Given the description of an element on the screen output the (x, y) to click on. 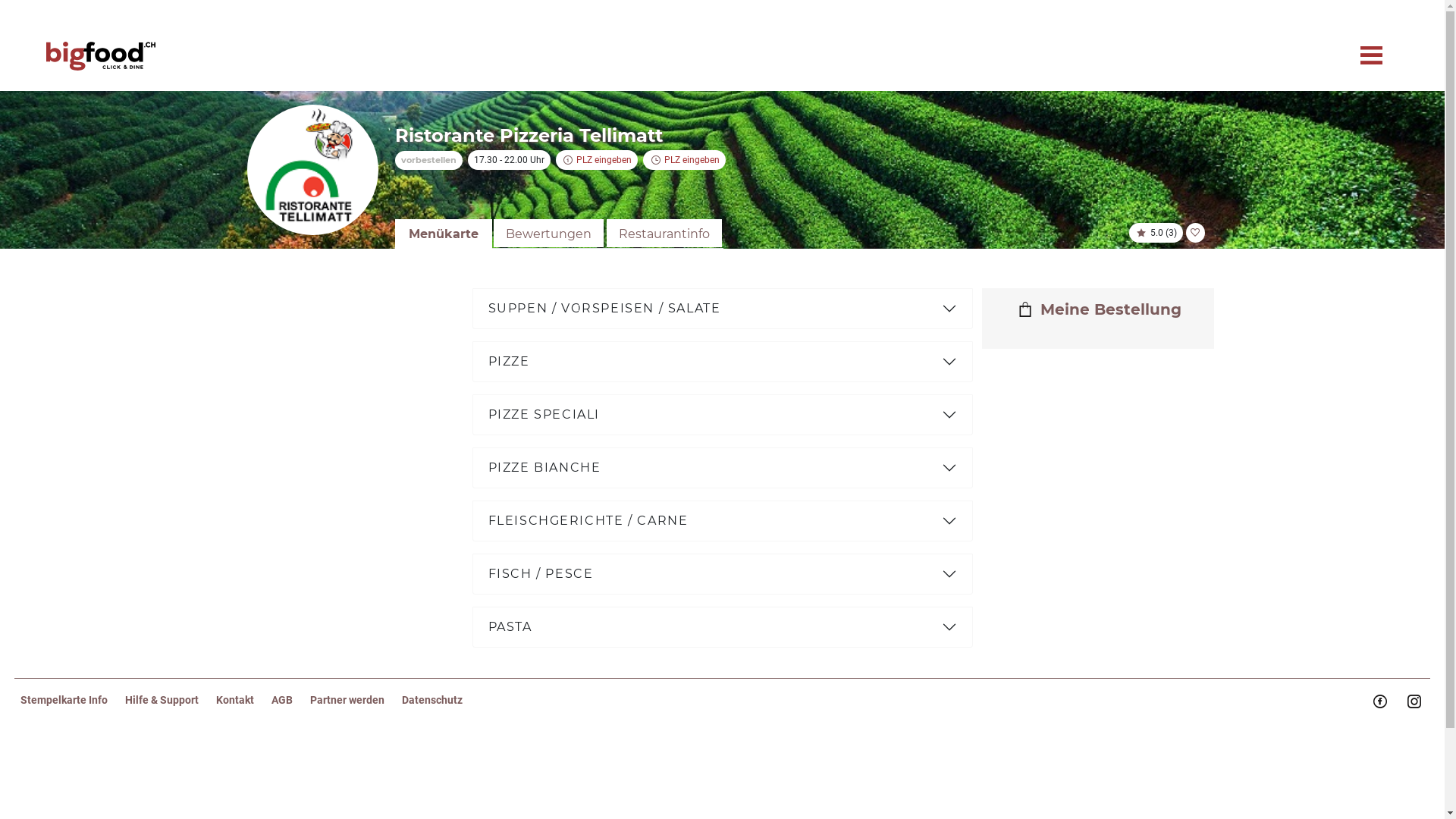
PIZZE BIANCHE Element type: text (721, 467)
FISCH / PESCE Element type: text (721, 573)
Bewertungen Element type: text (547, 233)
PASTA Element type: text (721, 626)
Partner werden Element type: text (355, 699)
Datenschutz Element type: text (439, 699)
PIZZE SPECIALI Element type: text (721, 414)
Stempelkarte Info Element type: text (72, 699)
FLEISCHGERICHTE / CARNE Element type: text (721, 520)
SUPPEN / VORSPEISEN / SALATE Element type: text (721, 308)
Hilfe & Support Element type: text (170, 699)
Restaurantinfo Element type: text (664, 233)
PIZZE Element type: text (721, 361)
Kontakt Element type: text (243, 699)
AGB Element type: text (290, 699)
